Given the description of an element on the screen output the (x, y) to click on. 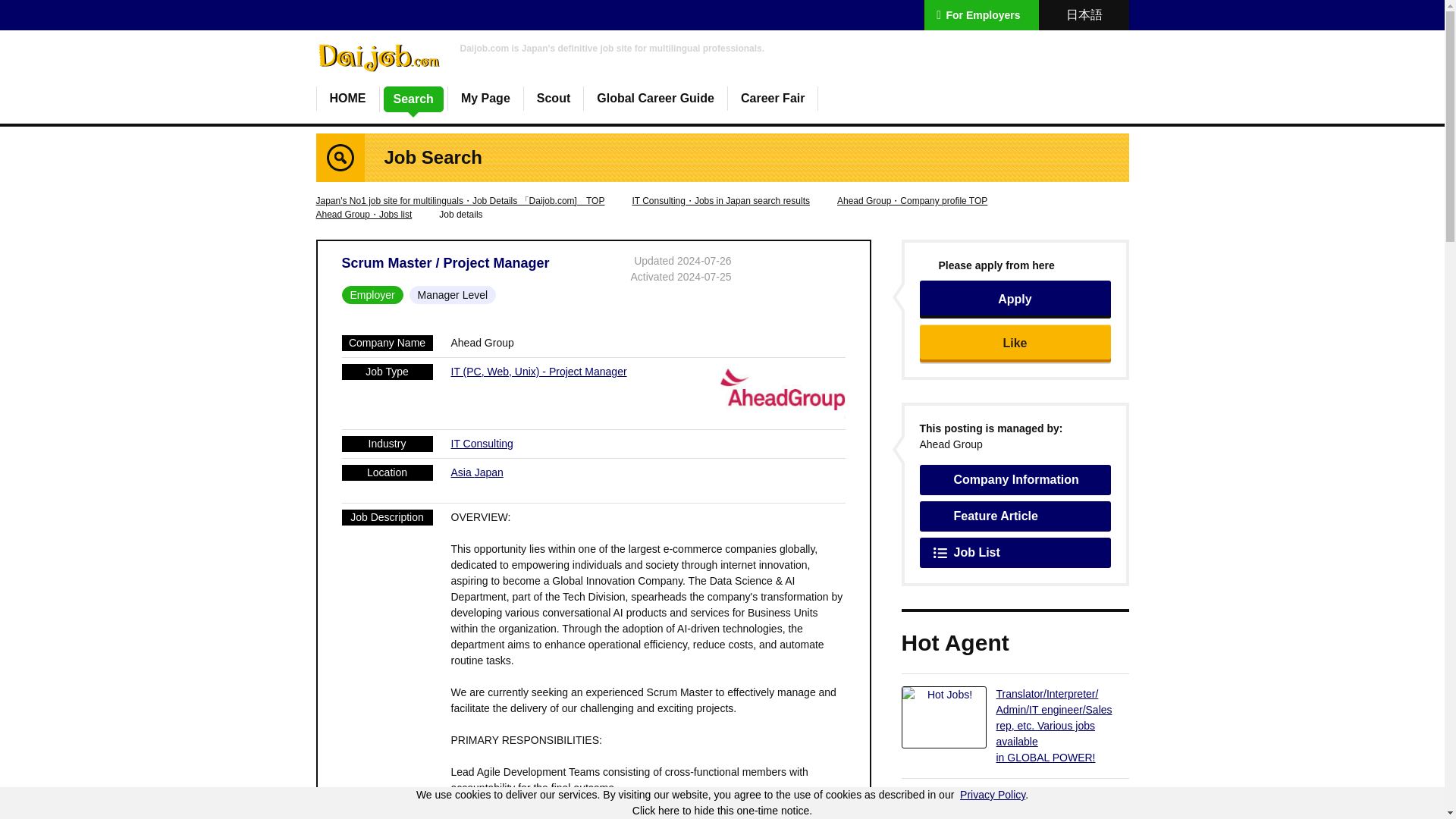
IT Consulting (480, 443)
Scout (553, 98)
Search (414, 99)
TOP (347, 98)
For Employers (981, 15)
Check Your Applications and Scout Messages (485, 98)
Conduct a Job Search (414, 99)
Privacy Policy (992, 794)
Career Fair (772, 98)
Global Career Guide (655, 98)
How to Progress Your Career (655, 98)
Apply (1013, 299)
Japan (488, 472)
My Page (485, 98)
HOME (347, 98)
